Given the description of an element on the screen output the (x, y) to click on. 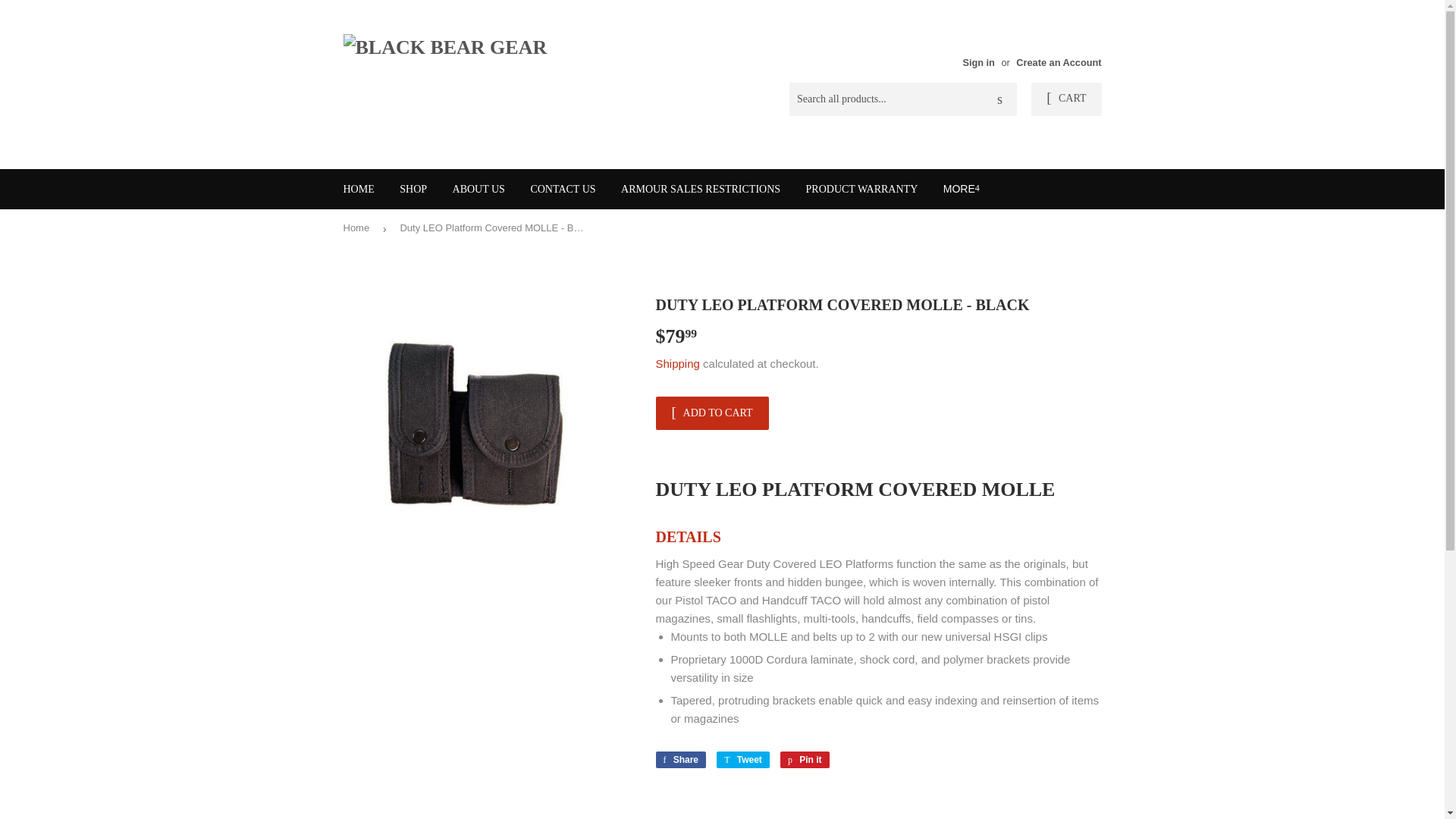
SHOP (413, 189)
PRODUCT WARRANTY (743, 759)
Tweet on Twitter (862, 189)
Sign in (804, 759)
CART (743, 759)
MORE (978, 61)
Search (1065, 99)
HOME (961, 188)
Share on Facebook (999, 100)
Home (358, 189)
Create an Account (680, 759)
Pin on Pinterest (680, 759)
